Given the description of an element on the screen output the (x, y) to click on. 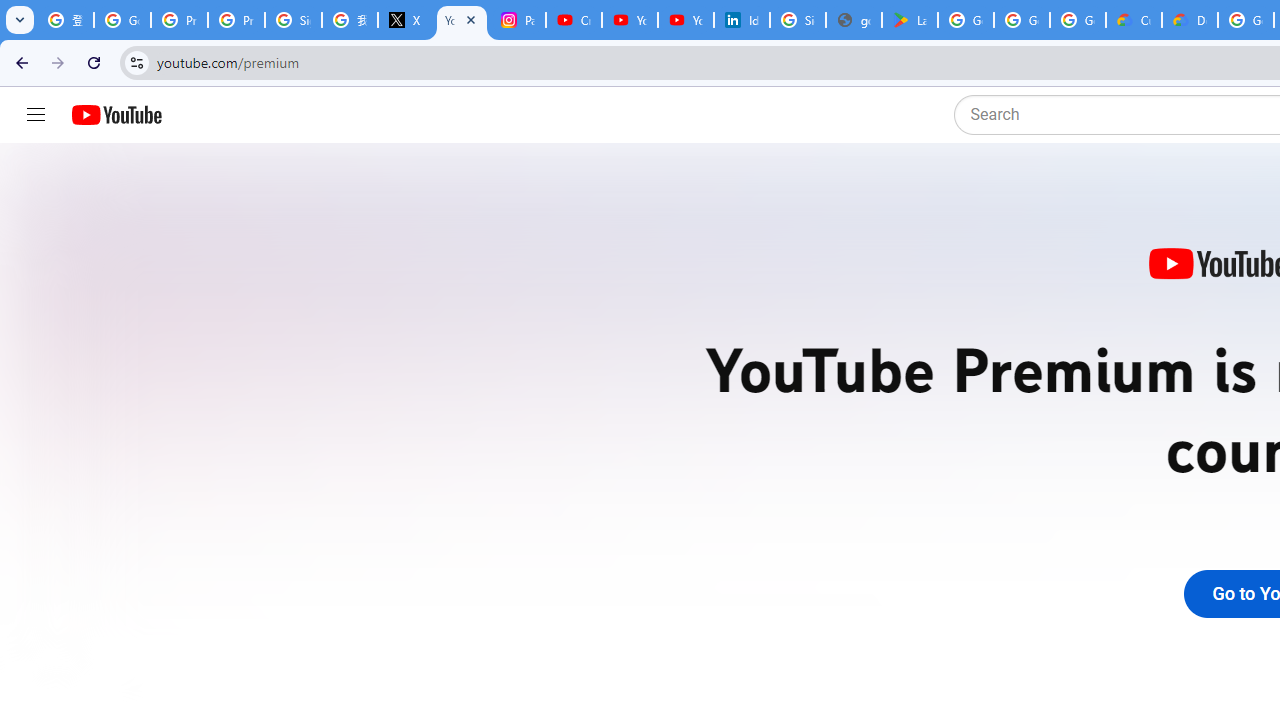
X (405, 20)
YouTube Premium - YouTube (461, 20)
YouTube Culture & Trends - YouTube Top 10, 2021 (685, 20)
Privacy Help Center - Policies Help (235, 20)
Google Workspace - Specific Terms (1077, 20)
google_privacy_policy_en.pdf (853, 20)
Guide (35, 115)
Sign in - Google Accounts (797, 20)
